Given the description of an element on the screen output the (x, y) to click on. 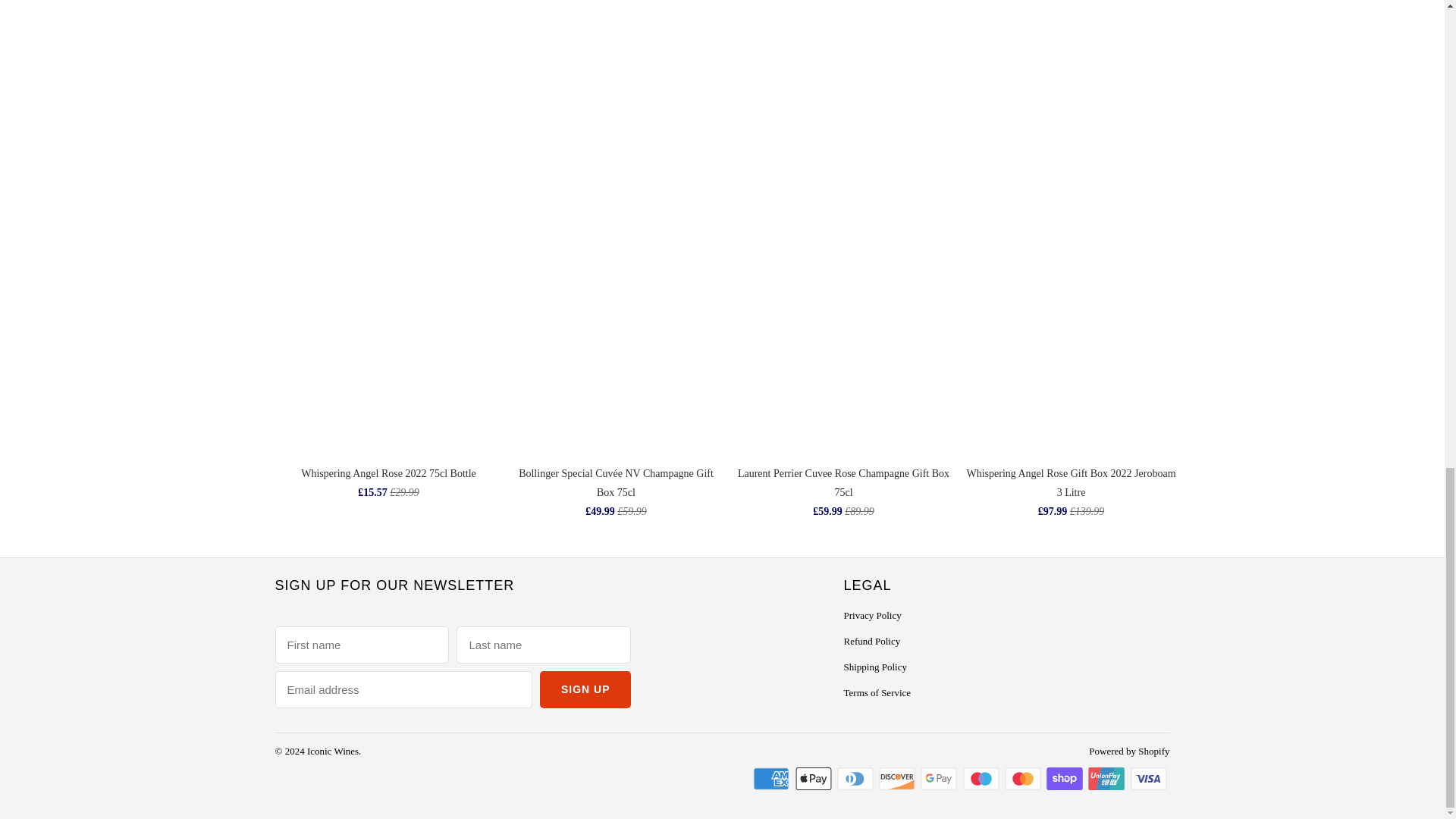
American Express (772, 778)
Mastercard (1023, 778)
Apple Pay (814, 778)
Google Pay (939, 778)
Sign Up (585, 689)
Diners Club (856, 778)
Visa (1149, 778)
Maestro (982, 778)
Discover (898, 778)
Union Pay (1106, 778)
Shop Pay (1066, 778)
